Given the description of an element on the screen output the (x, y) to click on. 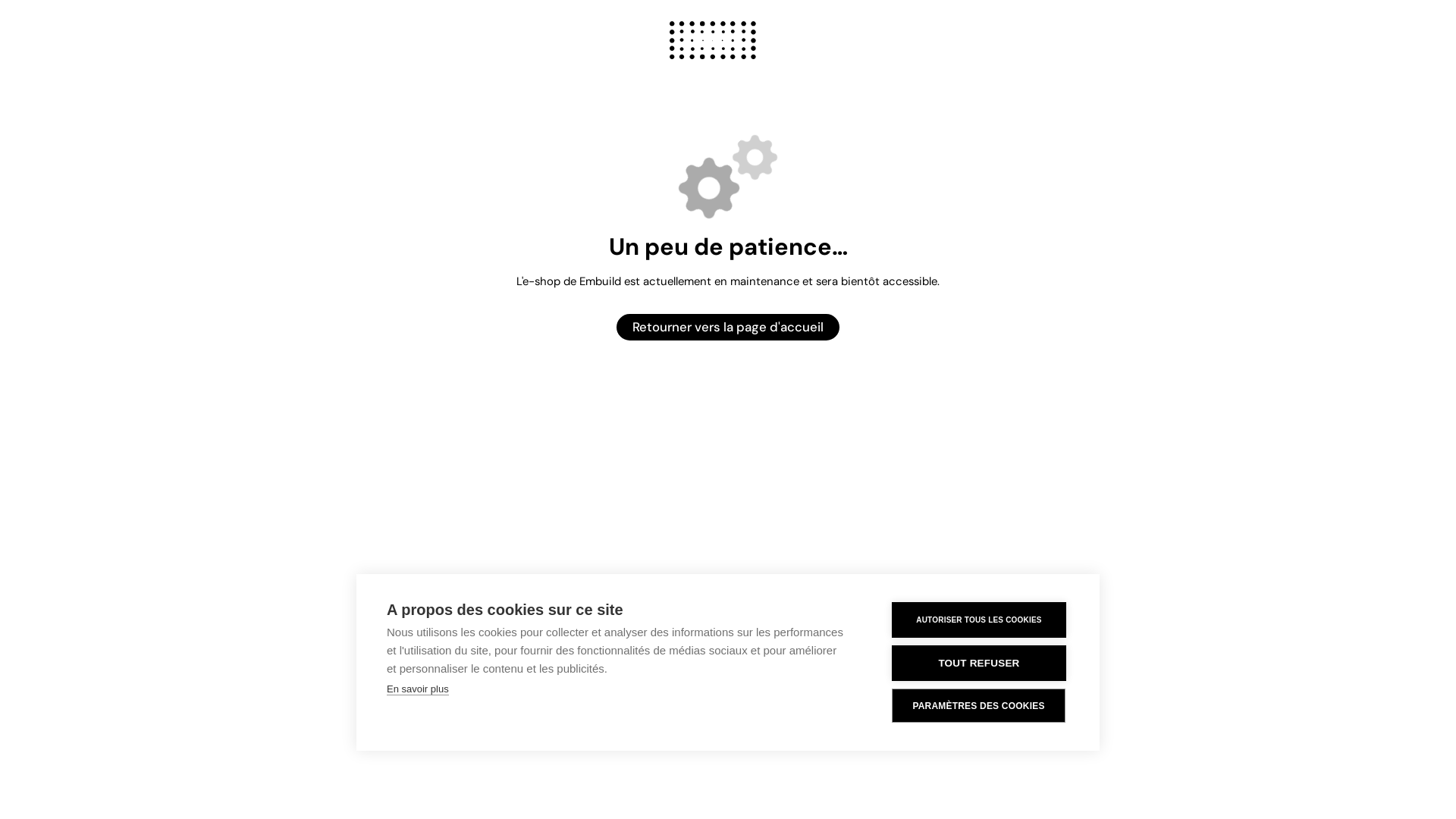
En savoir plus Element type: text (417, 689)
TOUT REFUSER Element type: text (978, 662)
AUTORISER TOUS LES COOKIES Element type: text (978, 619)
Retourner vers la page d'accueil Element type: text (727, 326)
